Given the description of an element on the screen output the (x, y) to click on. 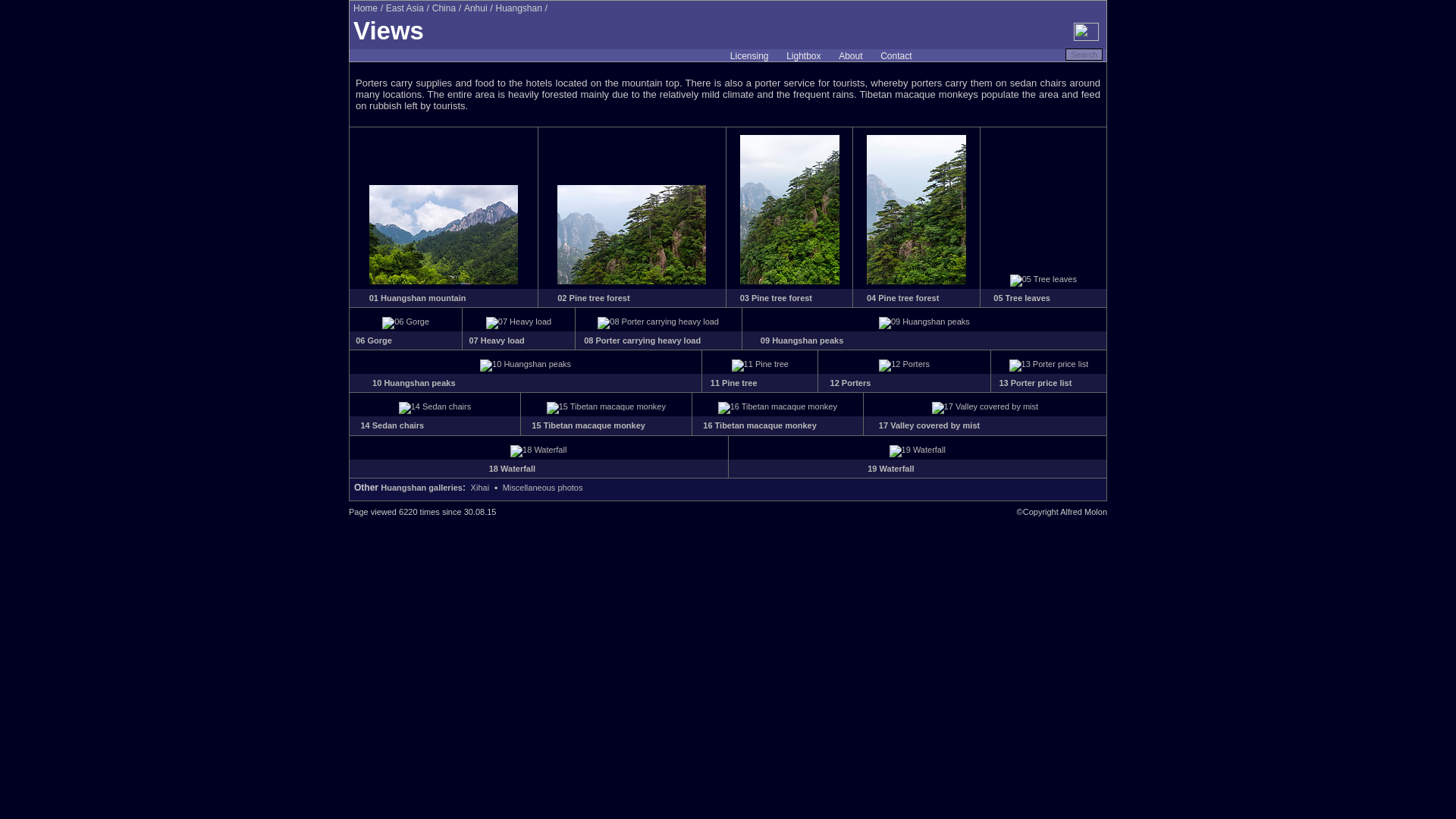
Image CH72065 - click to enlarge (924, 320)
Search (1083, 54)
06 Gorge (373, 339)
About this site (850, 55)
Image CH72072 - click to enlarge (777, 406)
Image CH72063 - click to enlarge (518, 320)
Image CH72071 - click to enlarge (606, 406)
05 Tree leaves (1020, 297)
View all images in the current selection (803, 55)
04 Pine tree forest (902, 297)
Image CH72062 - click to enlarge (405, 320)
Image CH72061 - click to enlarge (1043, 278)
Image CH72057 - click to enlarge (443, 280)
13 Porter price list (1034, 382)
Image CH72059 - click to enlarge (789, 280)
